Given the description of an element on the screen output the (x, y) to click on. 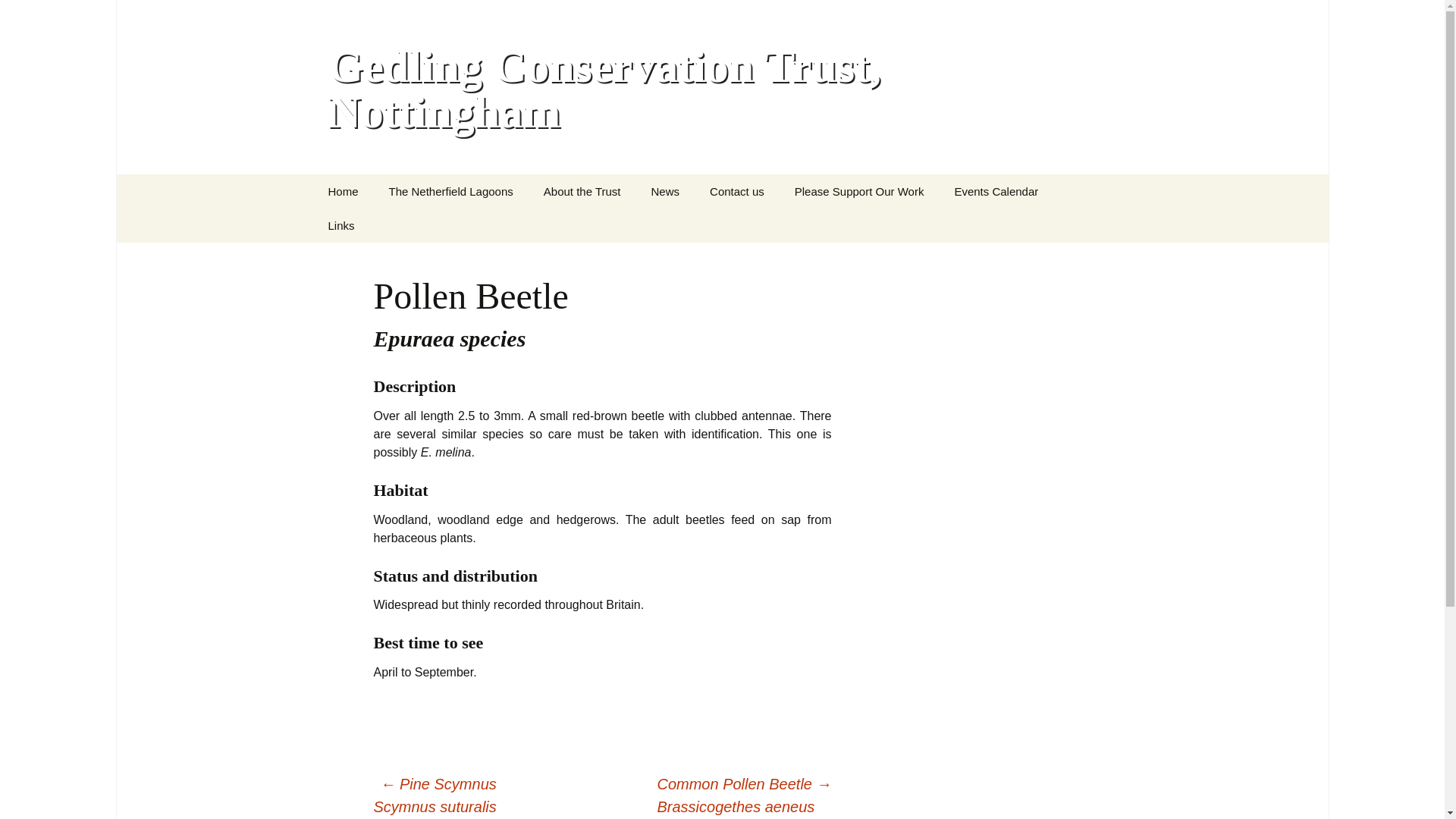
Getting to the Lagoons (449, 225)
Home (342, 191)
The Netherfield Lagoons (451, 191)
